Given the description of an element on the screen output the (x, y) to click on. 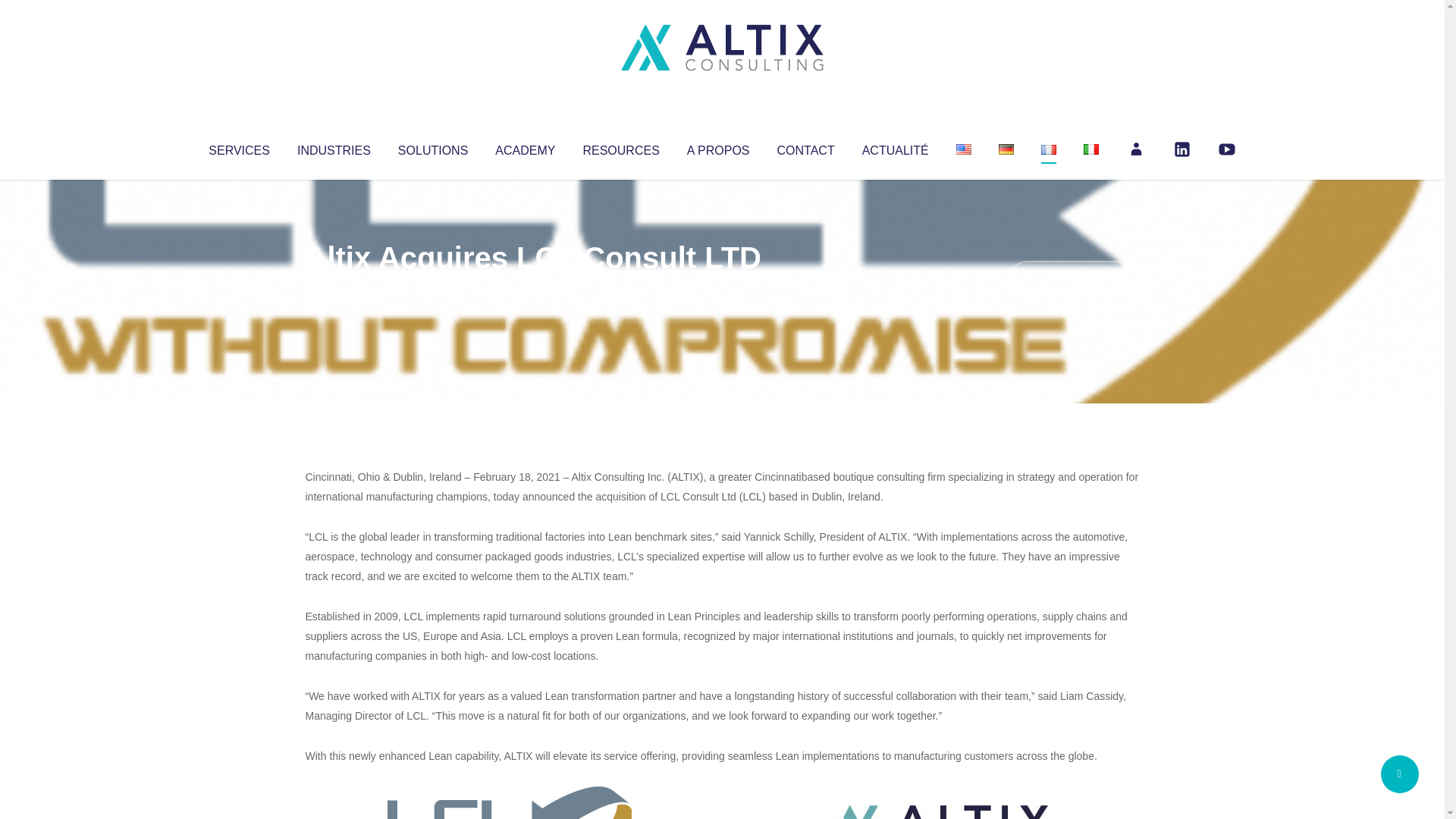
No Comments (1073, 278)
Articles par Altix (333, 287)
RESOURCES (620, 146)
Uncategorized (530, 287)
SOLUTIONS (432, 146)
ACADEMY (524, 146)
INDUSTRIES (334, 146)
A PROPOS (718, 146)
SERVICES (238, 146)
Altix (333, 287)
